Given the description of an element on the screen output the (x, y) to click on. 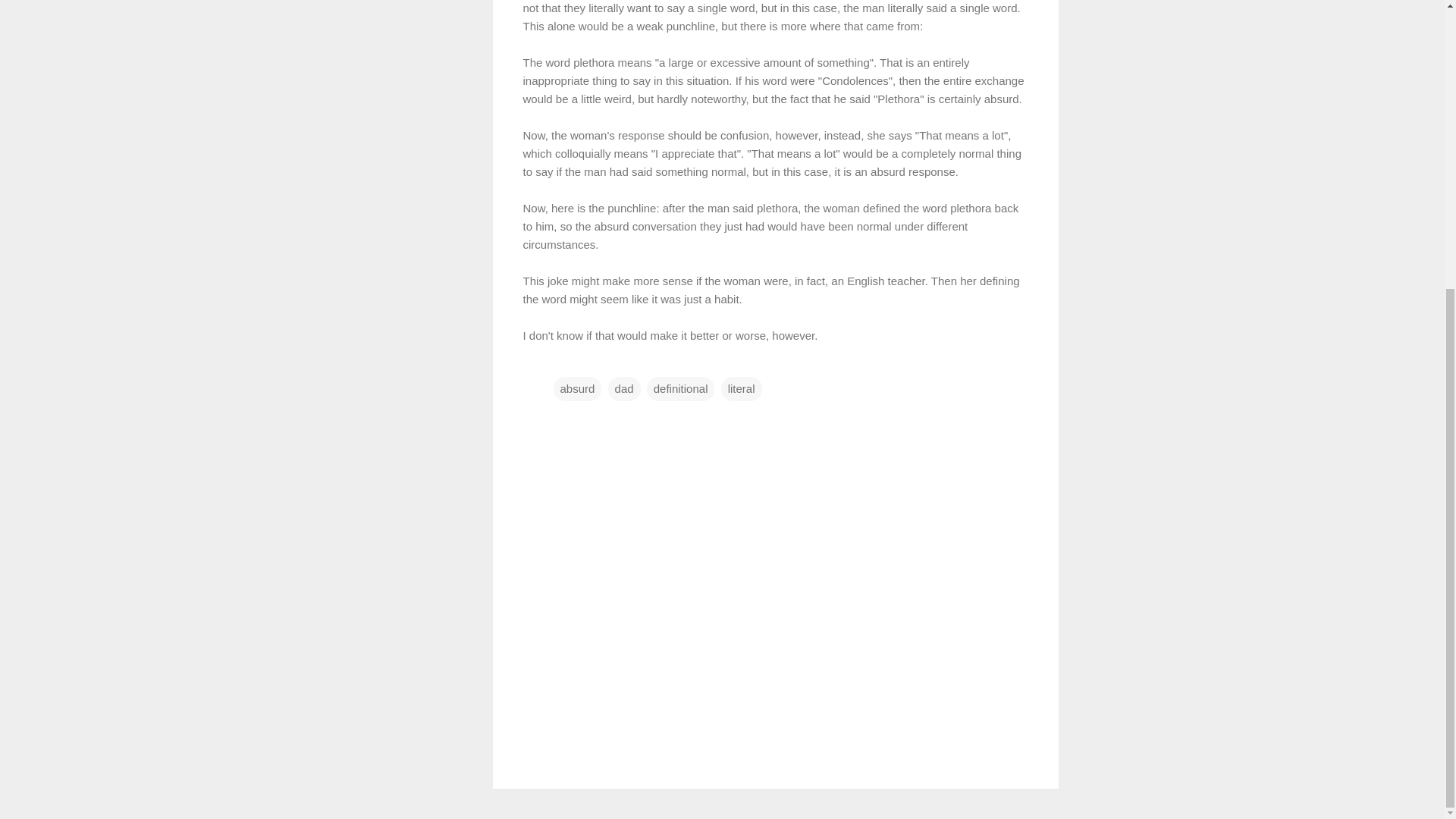
definitional (680, 388)
absurd (577, 388)
dad (624, 388)
literal (740, 388)
